Given the description of an element on the screen output the (x, y) to click on. 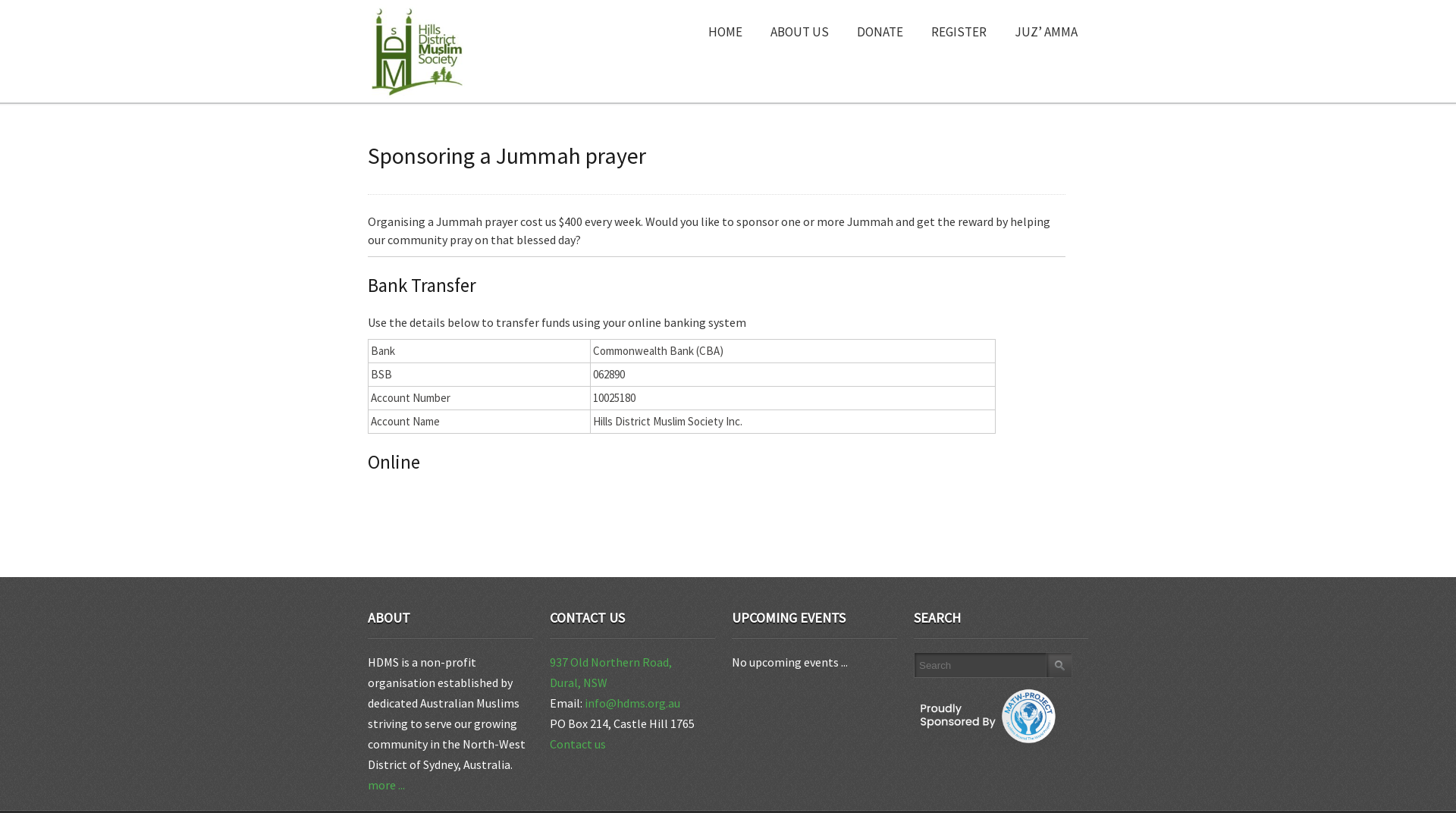
REGISTER Element type: text (958, 29)
info@hdms.org.au Element type: text (632, 702)
Contact us Element type: text (577, 743)
ABOUT US Element type: text (798, 29)
DONATE Element type: text (878, 29)
more ... Element type: text (385, 784)
937 Old Northern Road,
Dural, NSW Element type: text (610, 672)
HOME Element type: text (724, 29)
